Given the description of an element on the screen output the (x, y) to click on. 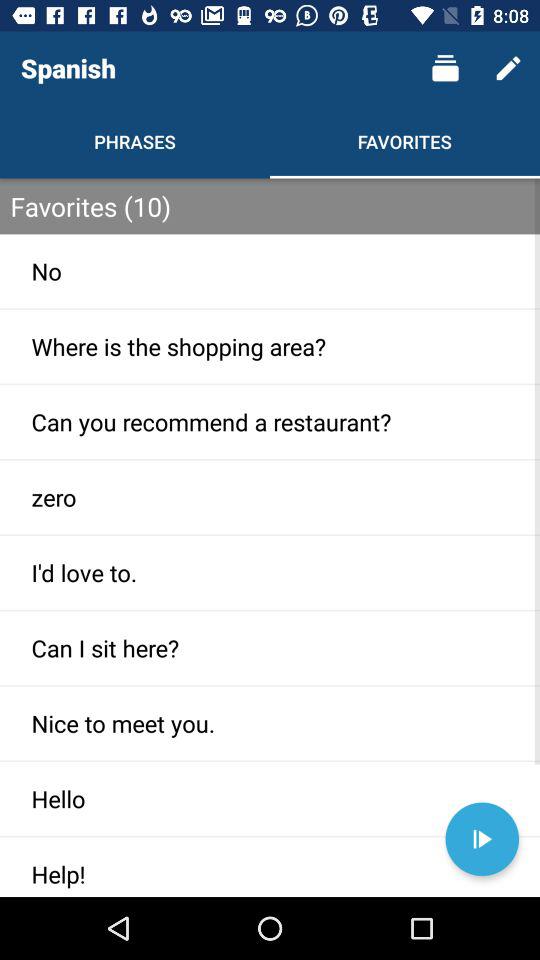
open the icon above favorites (10) item (508, 67)
